Given the description of an element on the screen output the (x, y) to click on. 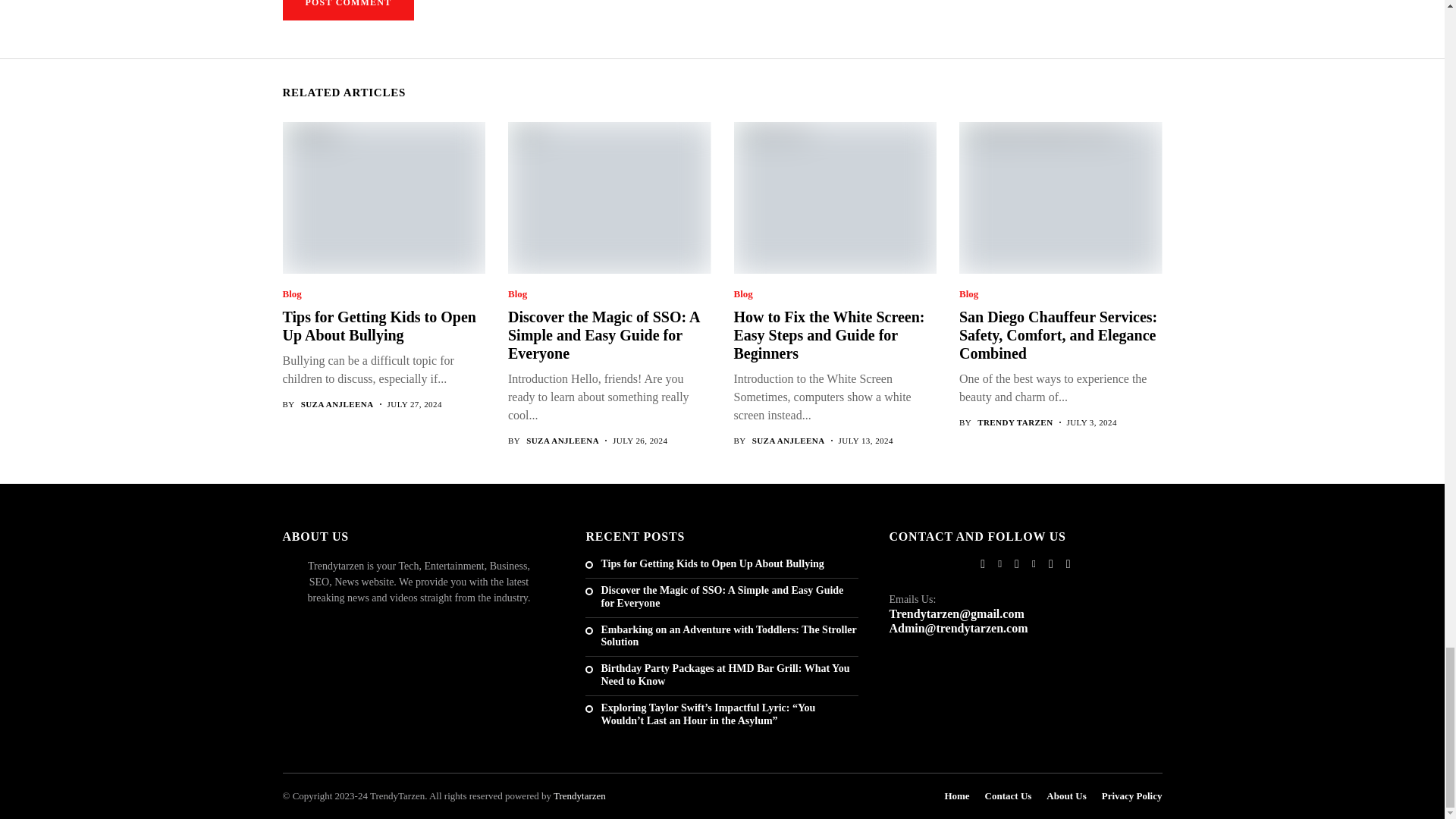
Tips for Getting Kids to Open Up About Bullying 6 (382, 197)
Post Comment (347, 10)
Posts by Suza Anjleena (337, 404)
Posts by Suza Anjleena (561, 440)
